Given the description of an element on the screen output the (x, y) to click on. 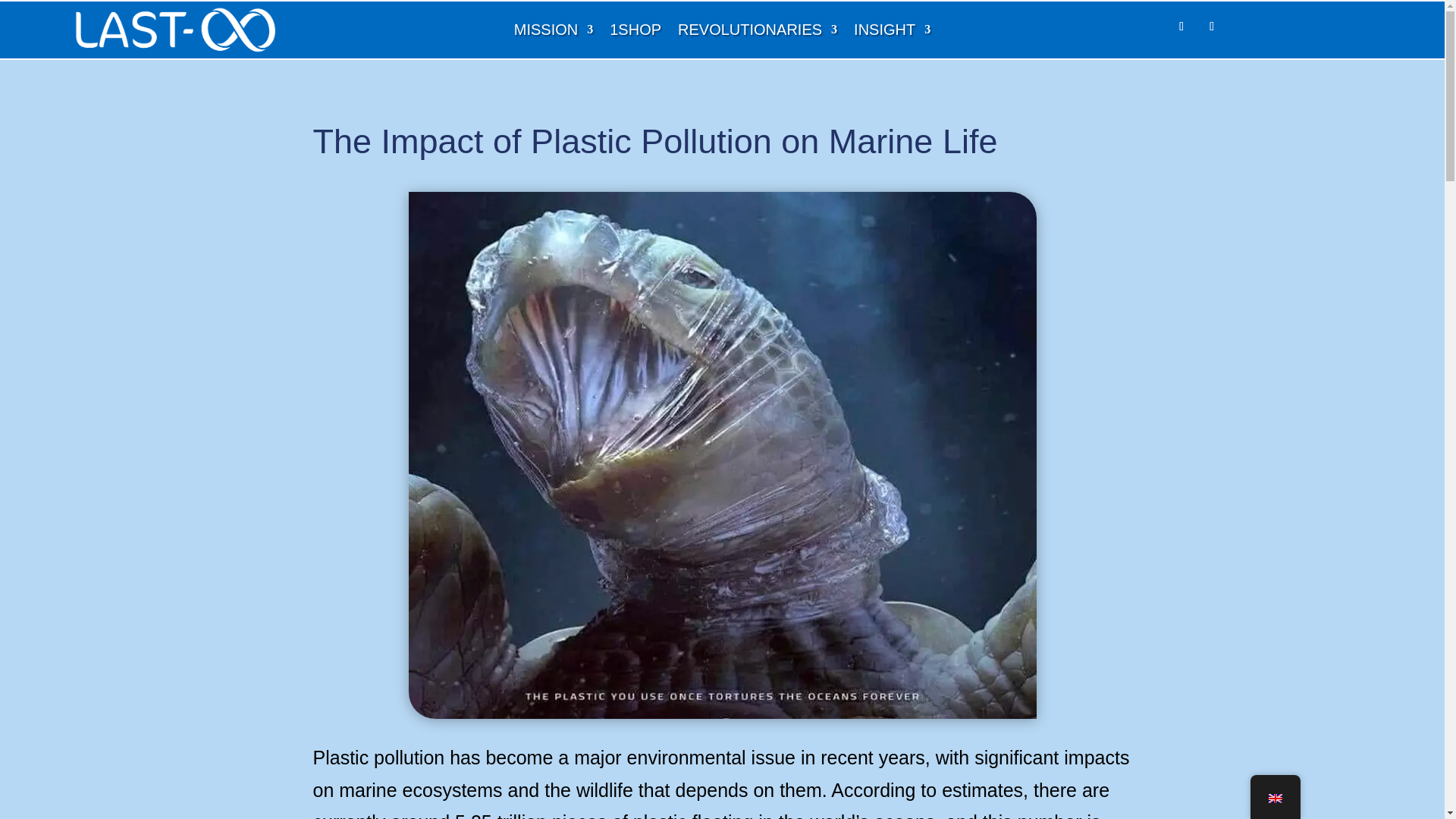
MISSION (552, 32)
English (1274, 798)
REVOLUTIONARIES (757, 32)
1SHOP (635, 32)
Follow on Instagram (1211, 26)
Follow on TikTok (1181, 26)
INSIGHT (891, 32)
Last-x white (173, 33)
